Given the description of an element on the screen output the (x, y) to click on. 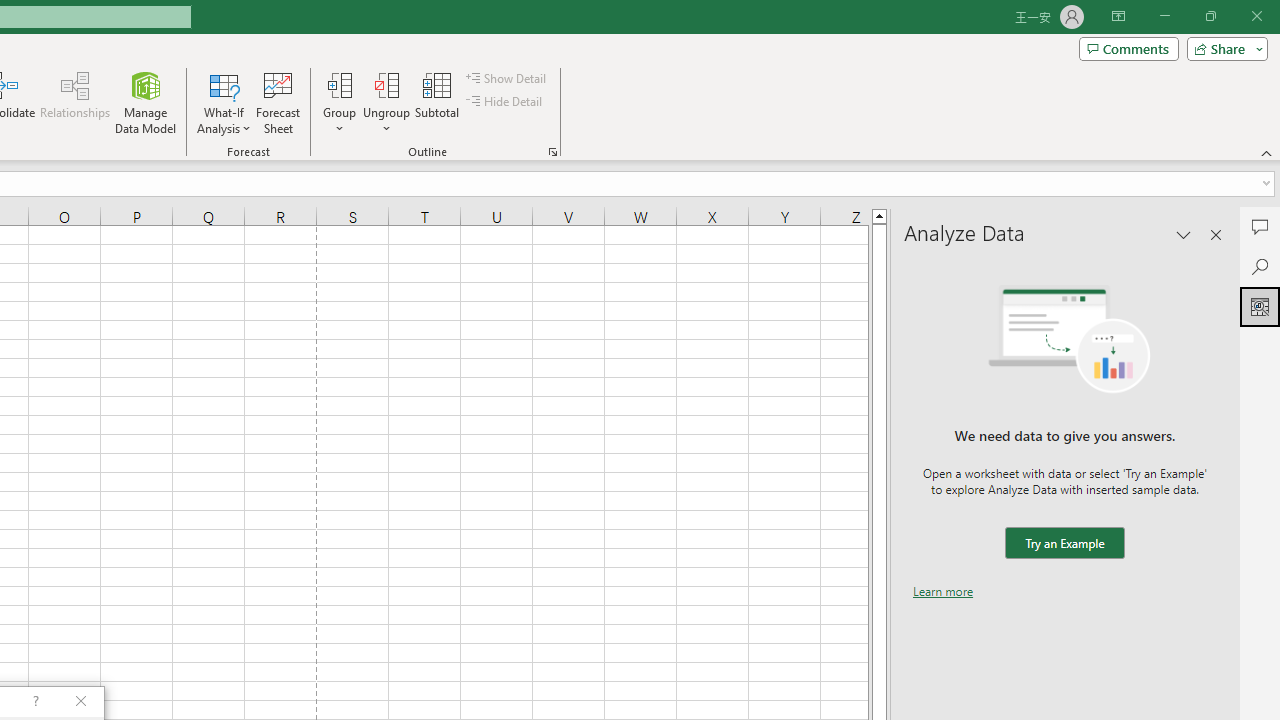
Relationships (75, 102)
